Given the description of an element on the screen output the (x, y) to click on. 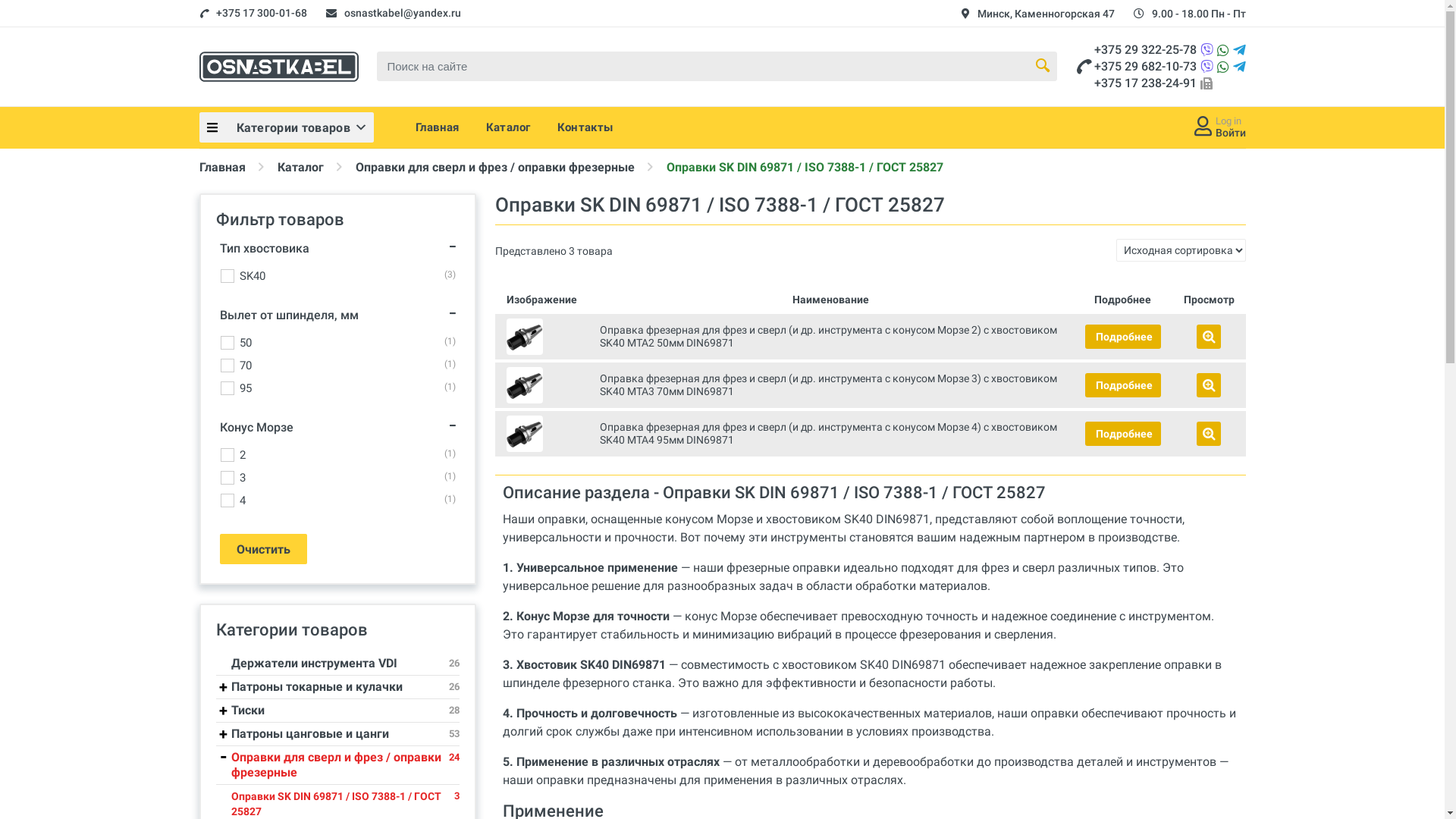
+375 29 682-10-73 Element type: text (1144, 66)
+375 17 238-24-91 Element type: text (1144, 82)
+375 29 322-25-78 Element type: text (1144, 49)
osnastkabel@yandex.ru Element type: text (402, 12)
+375 17 300-01-68 Element type: text (260, 12)
